Given the description of an element on the screen output the (x, y) to click on. 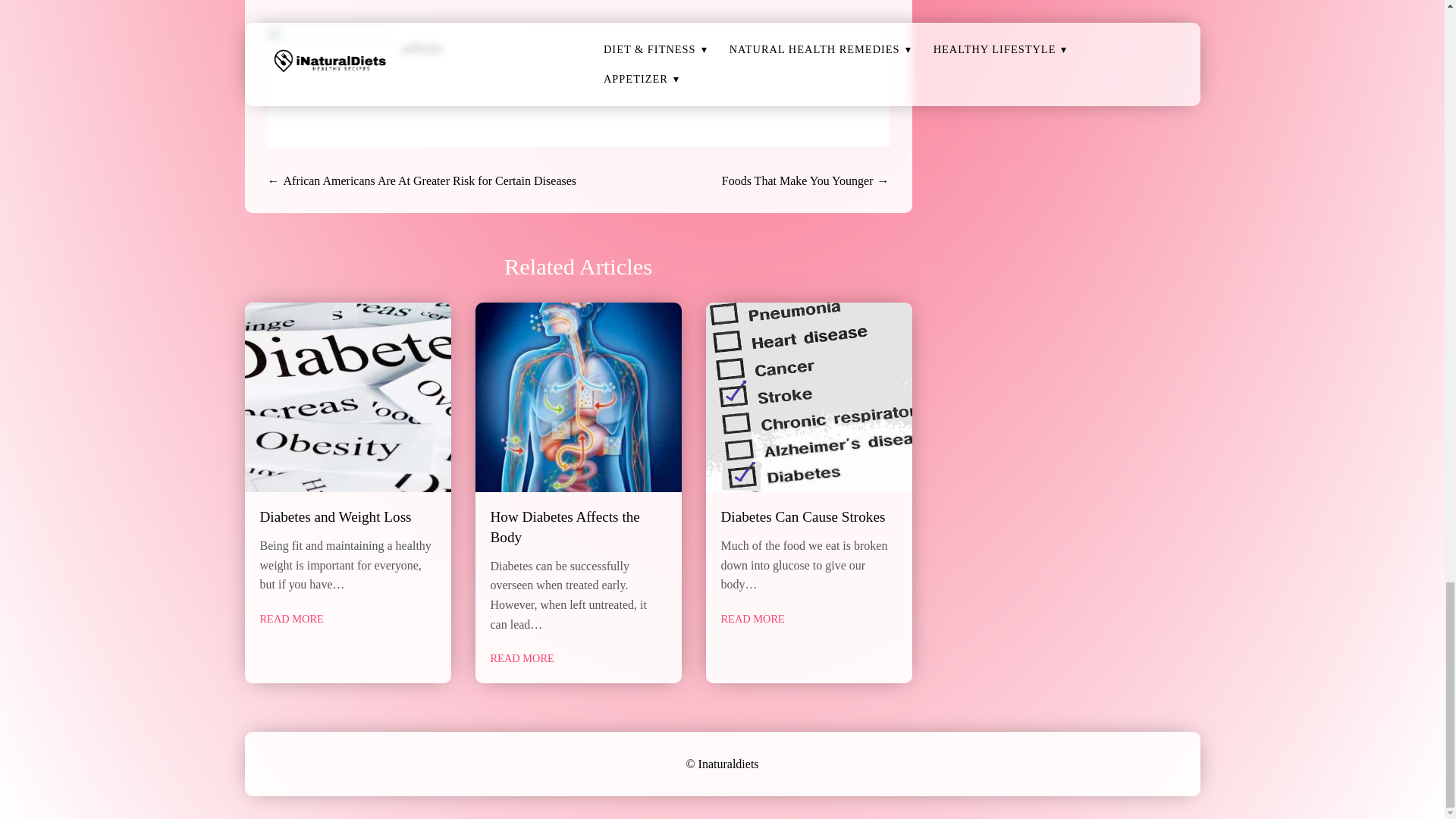
African Americans Are At Greater Risk for Certain Diseases (429, 180)
Diabetes and Weight Loss (334, 516)
Foods That Make You Younger (797, 180)
admin (421, 47)
